Given the description of an element on the screen output the (x, y) to click on. 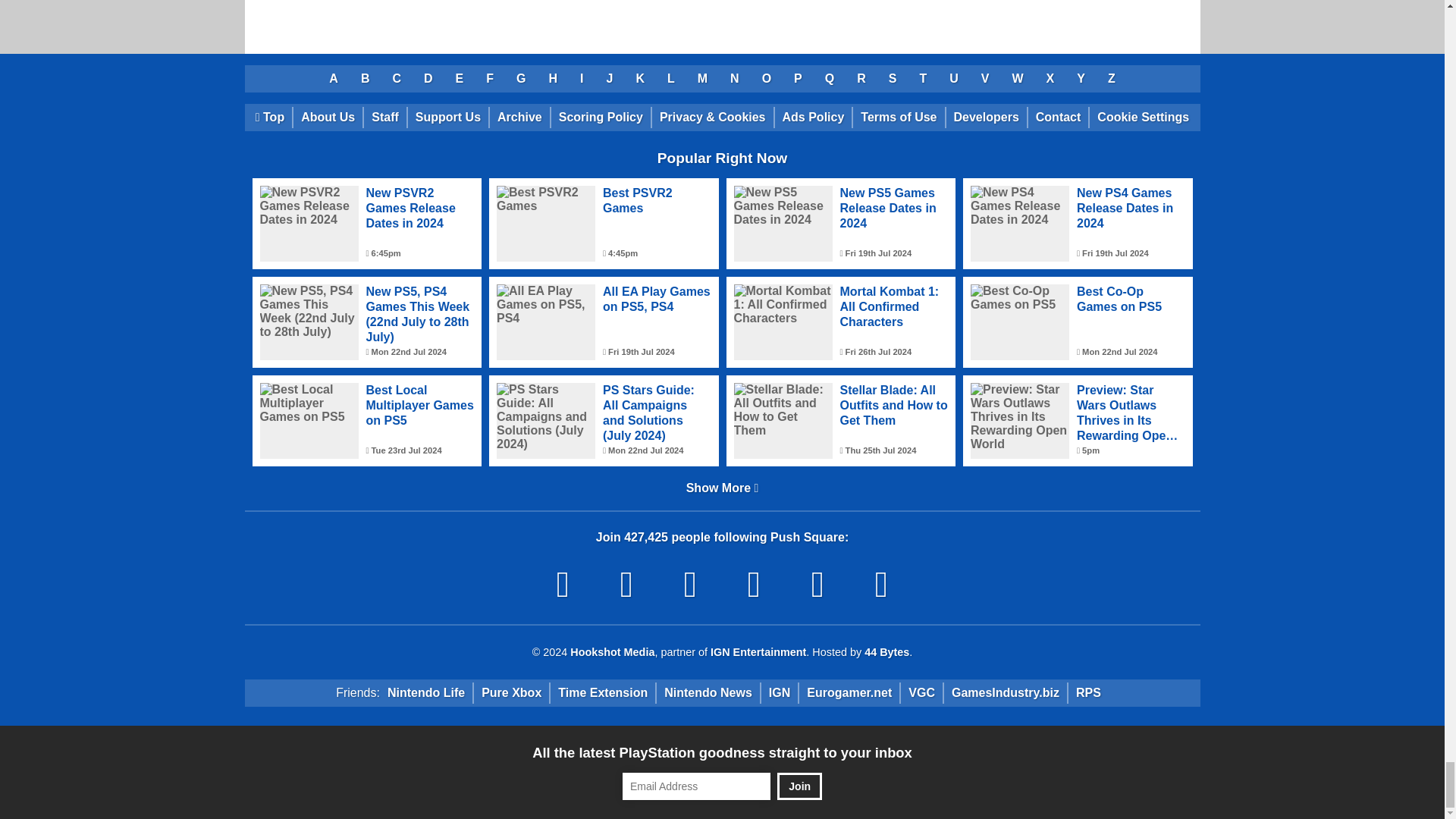
Join (799, 786)
